Given the description of an element on the screen output the (x, y) to click on. 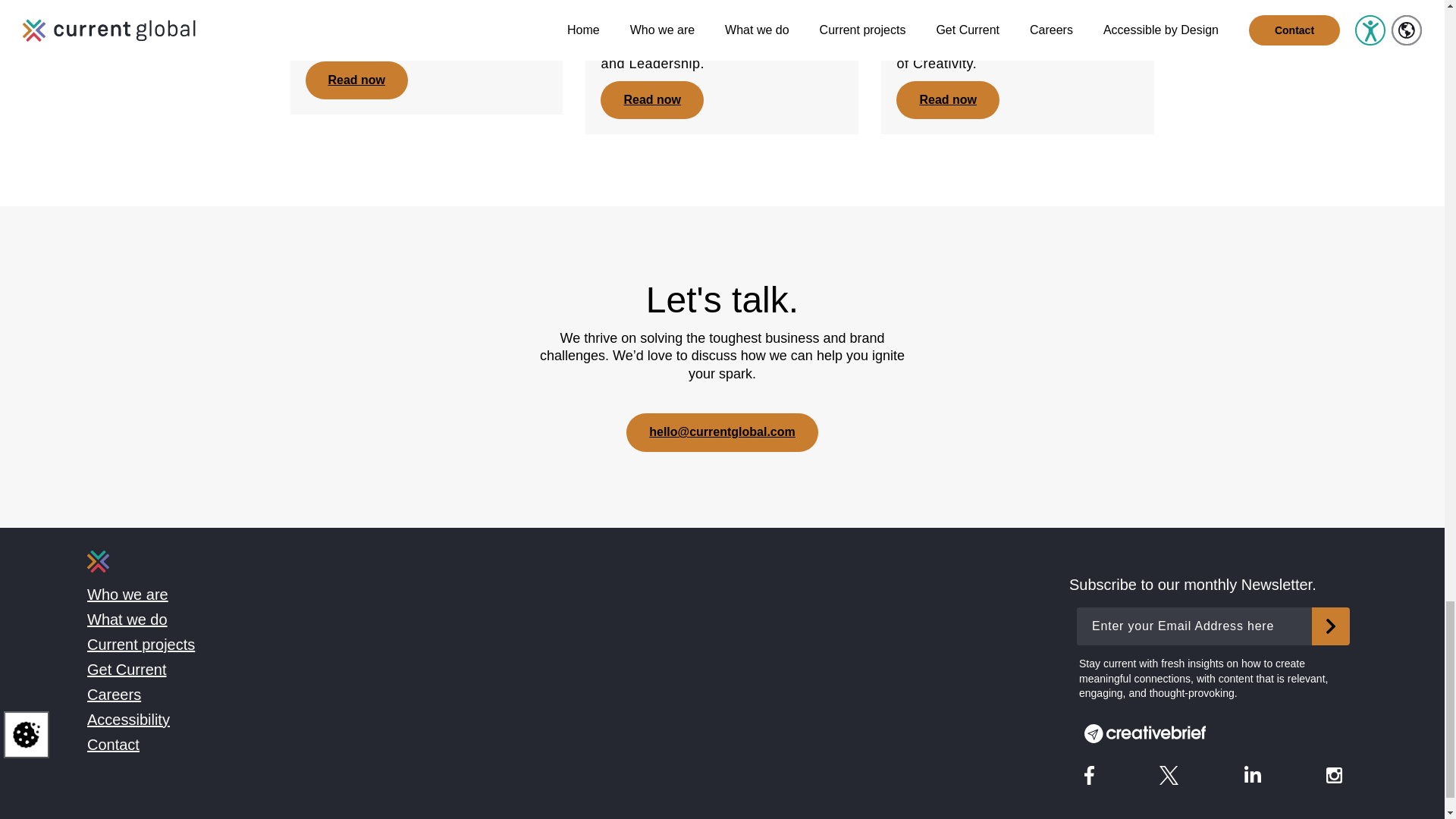
Read now (651, 99)
Get Current (126, 669)
Read now (947, 99)
Who we are (127, 594)
Current projects (141, 644)
Accessibility (128, 719)
Read now (355, 80)
Send (1330, 626)
Careers (114, 694)
What we do (127, 619)
